Given the description of an element on the screen output the (x, y) to click on. 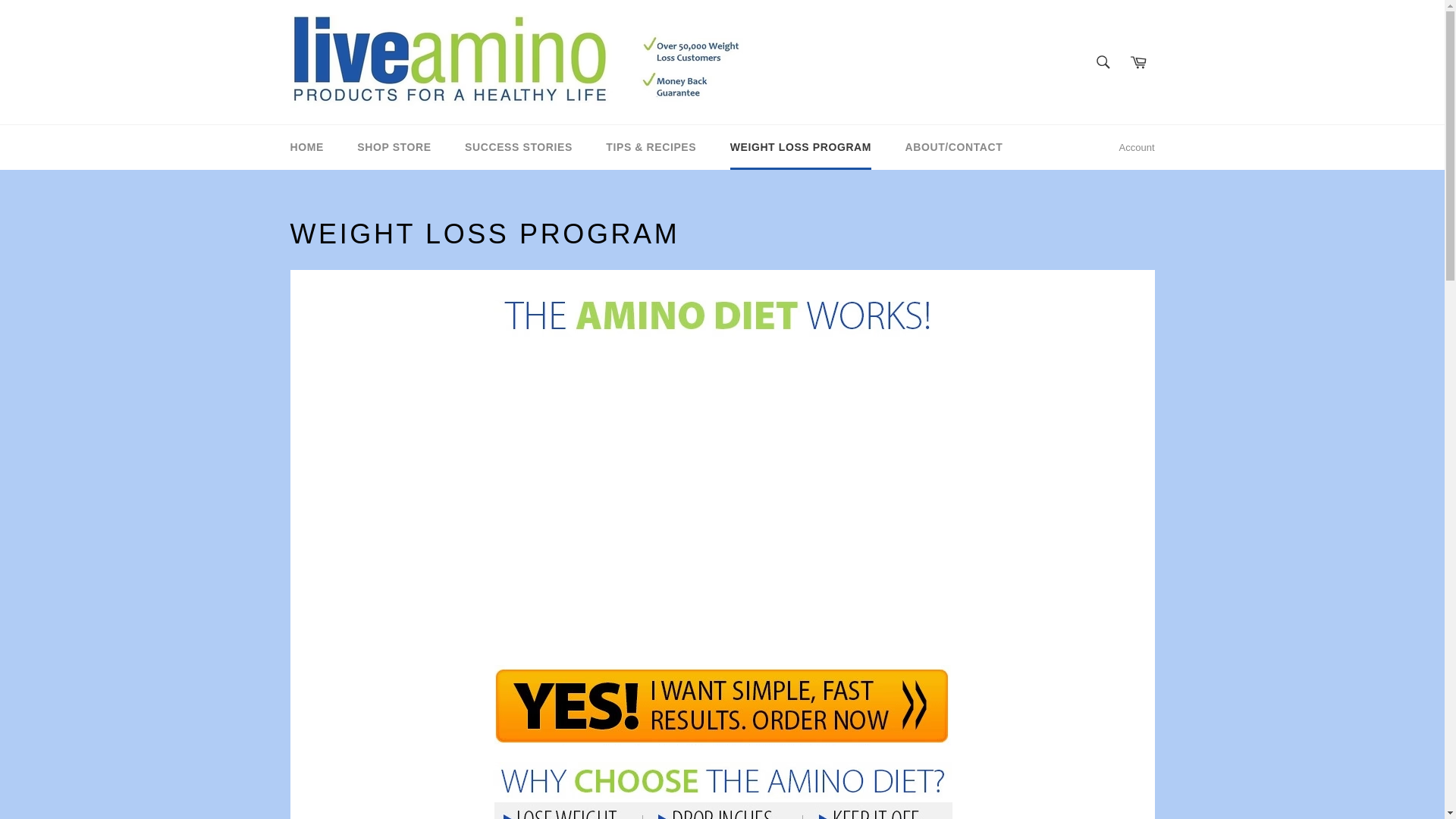
Account (1136, 147)
Search (1103, 61)
SHOP STORE (393, 147)
HOME (306, 147)
Cart (1138, 61)
WEIGHT LOSS PROGRAM (800, 147)
SUCCESS STORIES (518, 147)
